Given the description of an element on the screen output the (x, y) to click on. 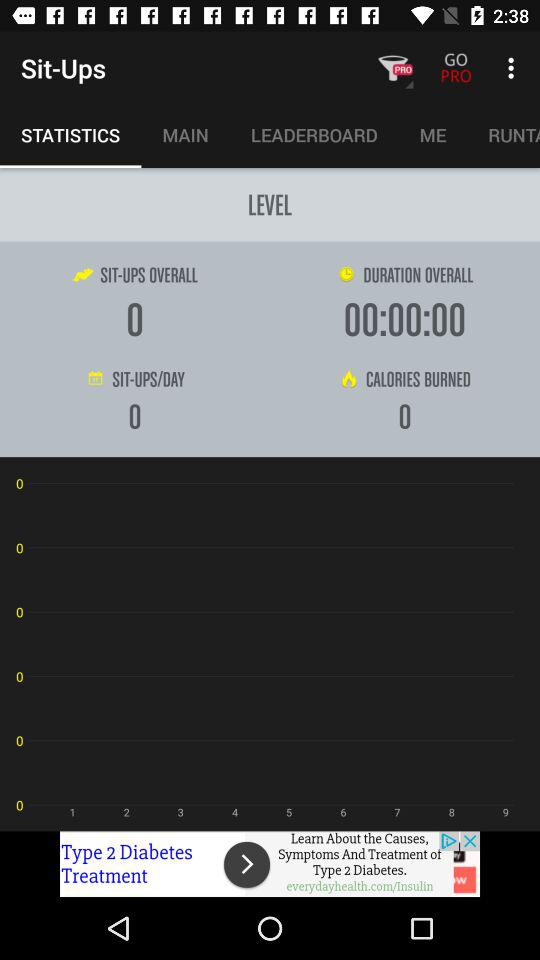
add image icon (270, 864)
